Given the description of an element on the screen output the (x, y) to click on. 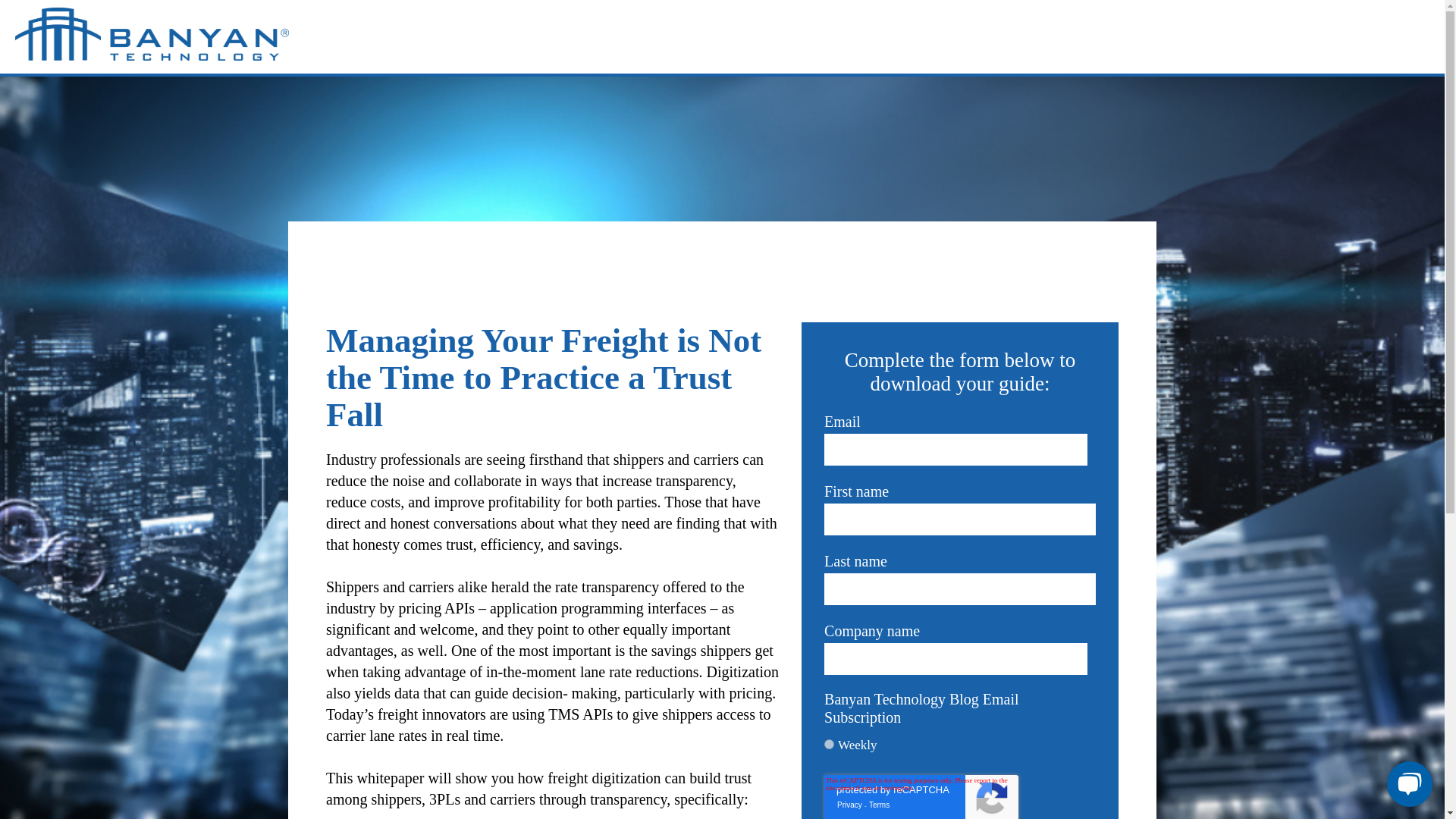
weekly (829, 744)
reCAPTCHA (920, 796)
